Given the description of an element on the screen output the (x, y) to click on. 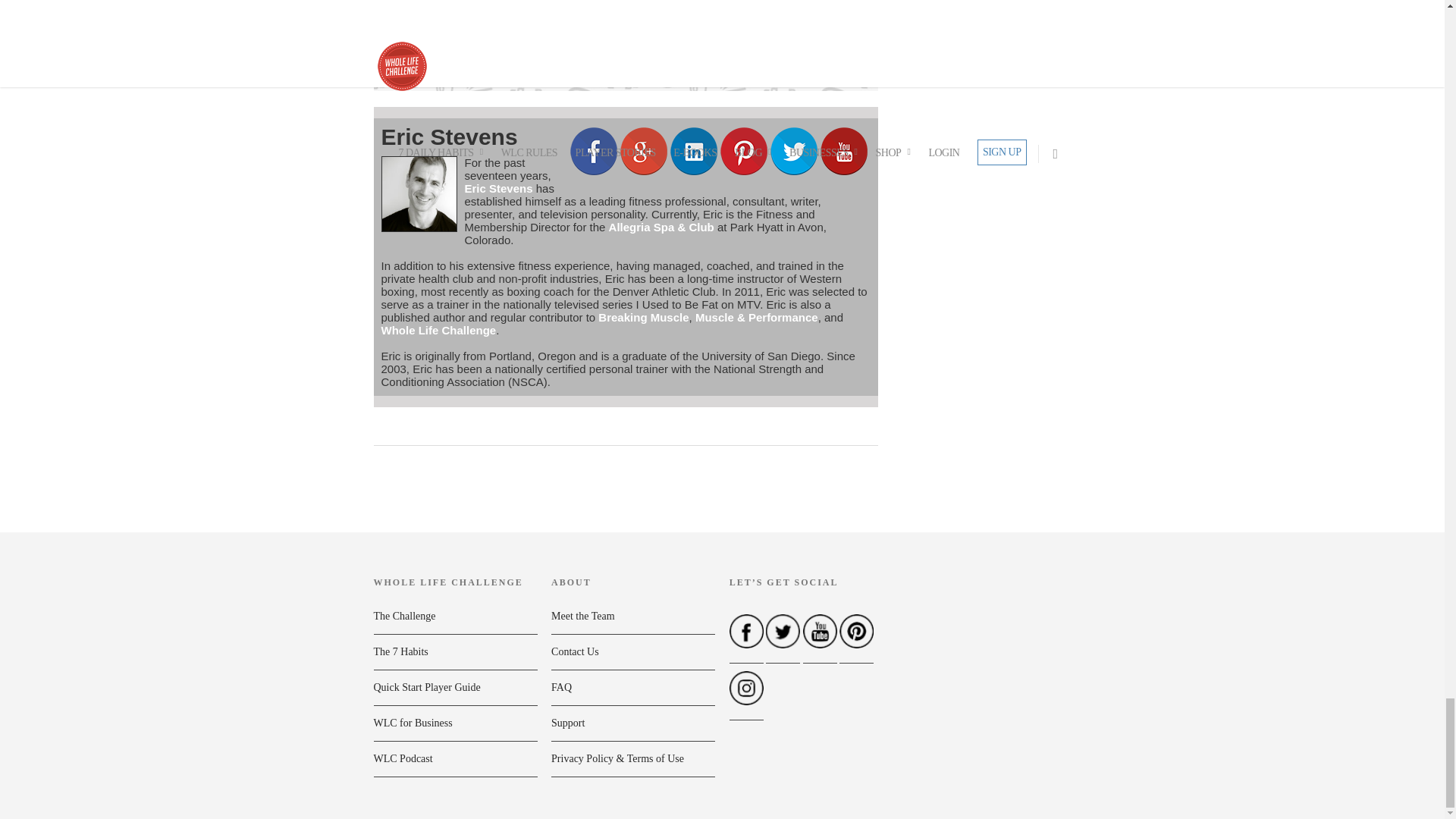
Eric Stevens (448, 136)
